Given the description of an element on the screen output the (x, y) to click on. 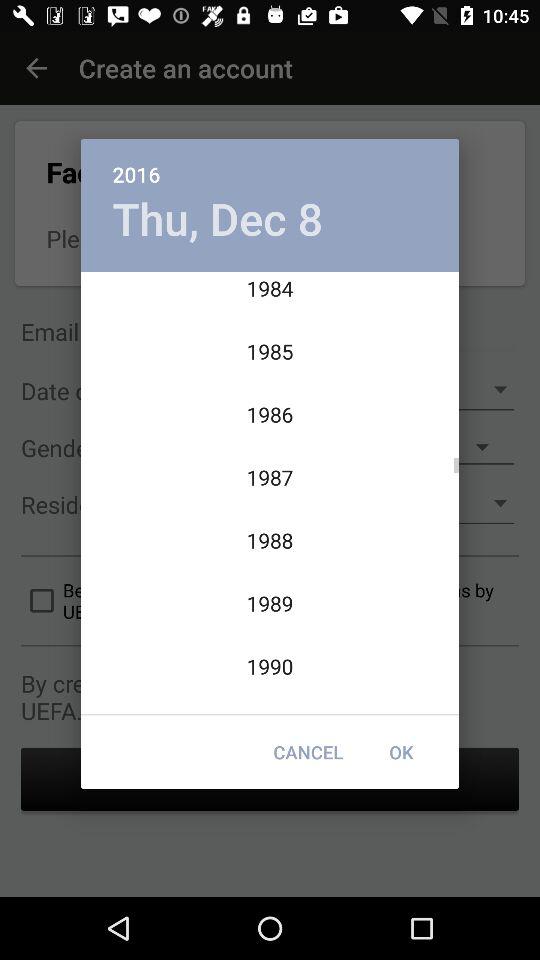
press item above 1979 item (217, 218)
